Given the description of an element on the screen output the (x, y) to click on. 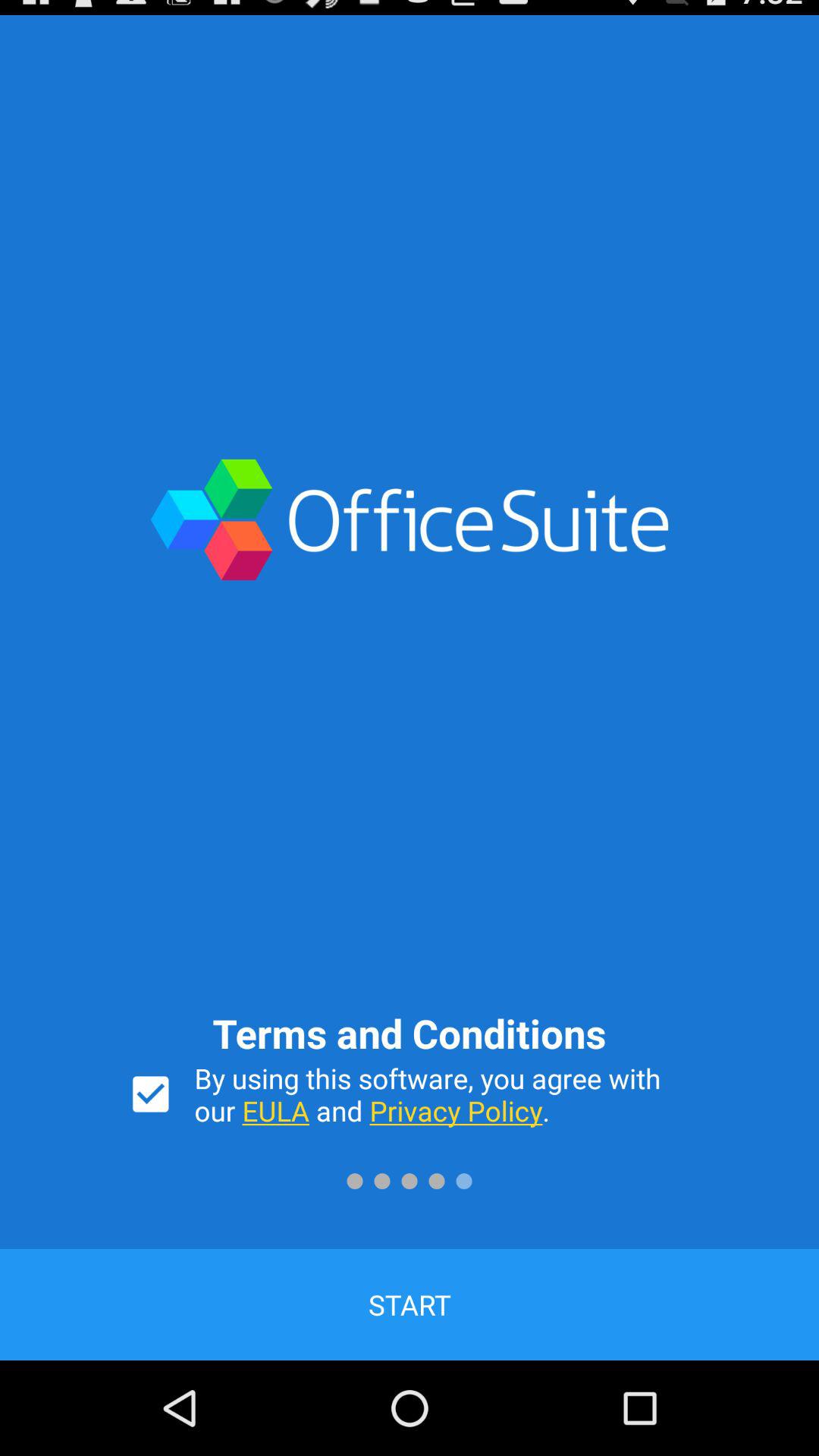
agree to terms and conditions (150, 1093)
